Given the description of an element on the screen output the (x, y) to click on. 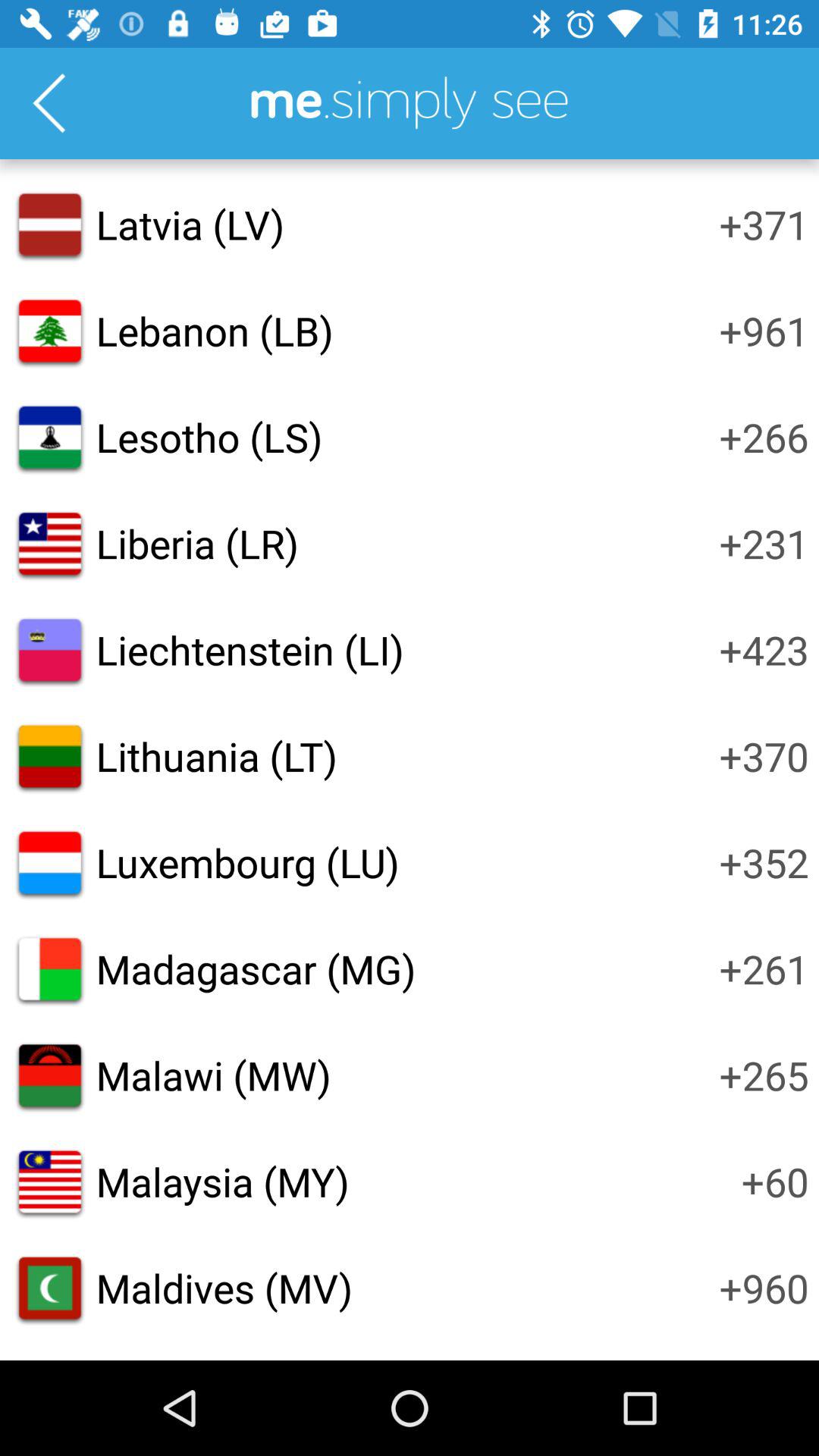
open +60 item (774, 1181)
